Given the description of an element on the screen output the (x, y) to click on. 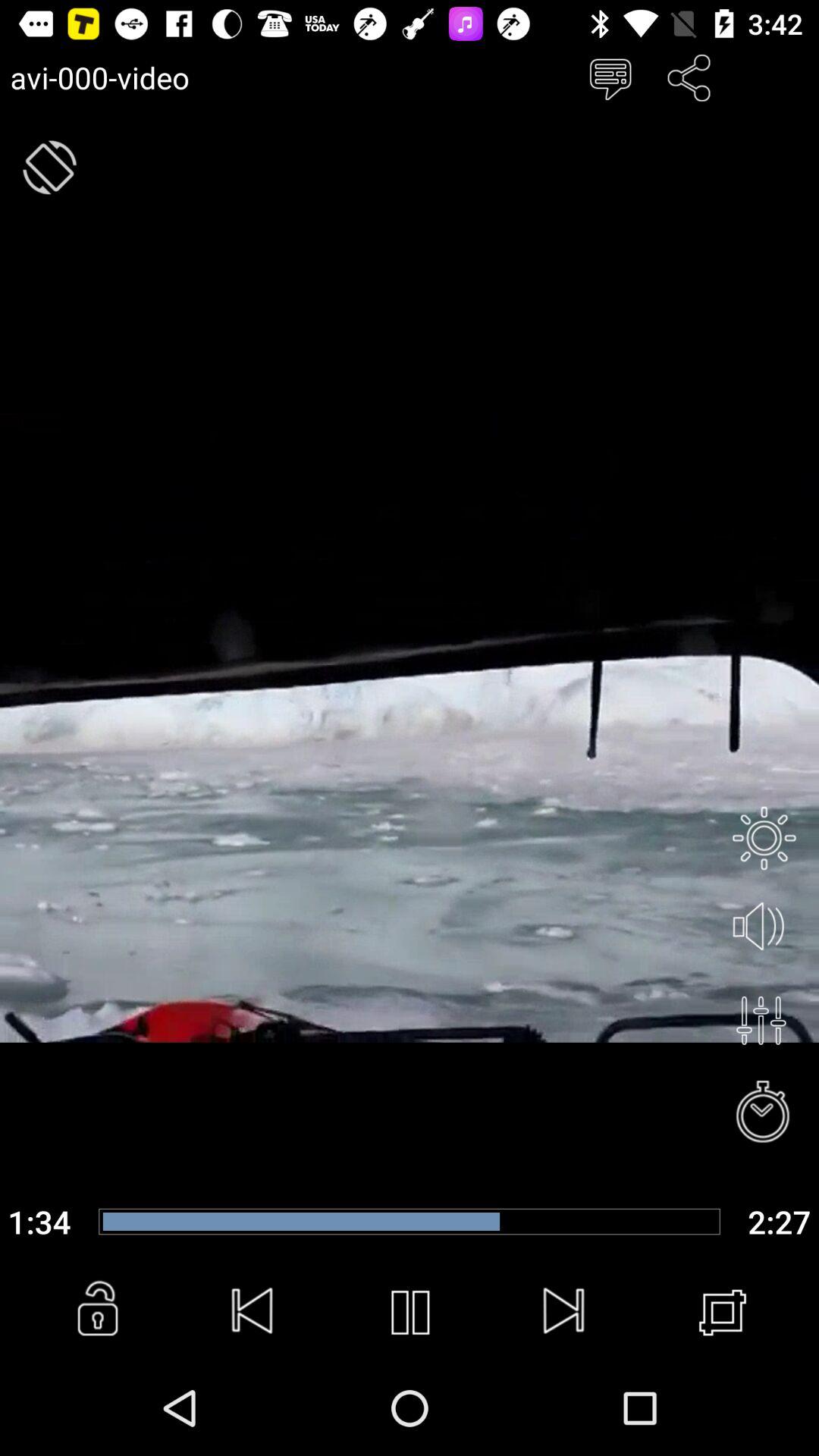
vibrate (49, 167)
